Given the description of an element on the screen output the (x, y) to click on. 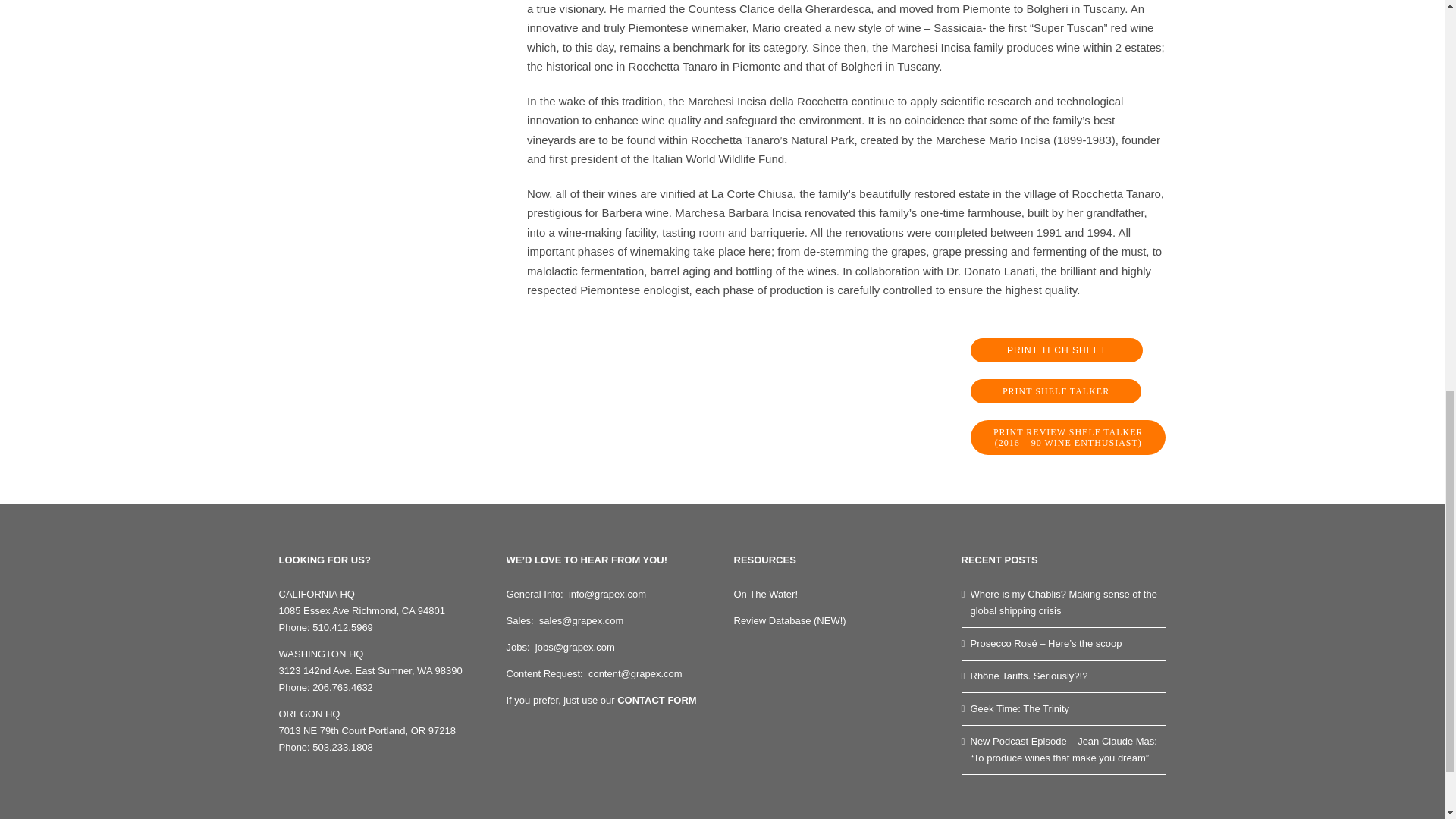
On The Water! (765, 593)
CONTACT FORM (656, 699)
PRINT SHELF TALKER (1056, 391)
PRINT TECH SHEET (1056, 350)
